Given the description of an element on the screen output the (x, y) to click on. 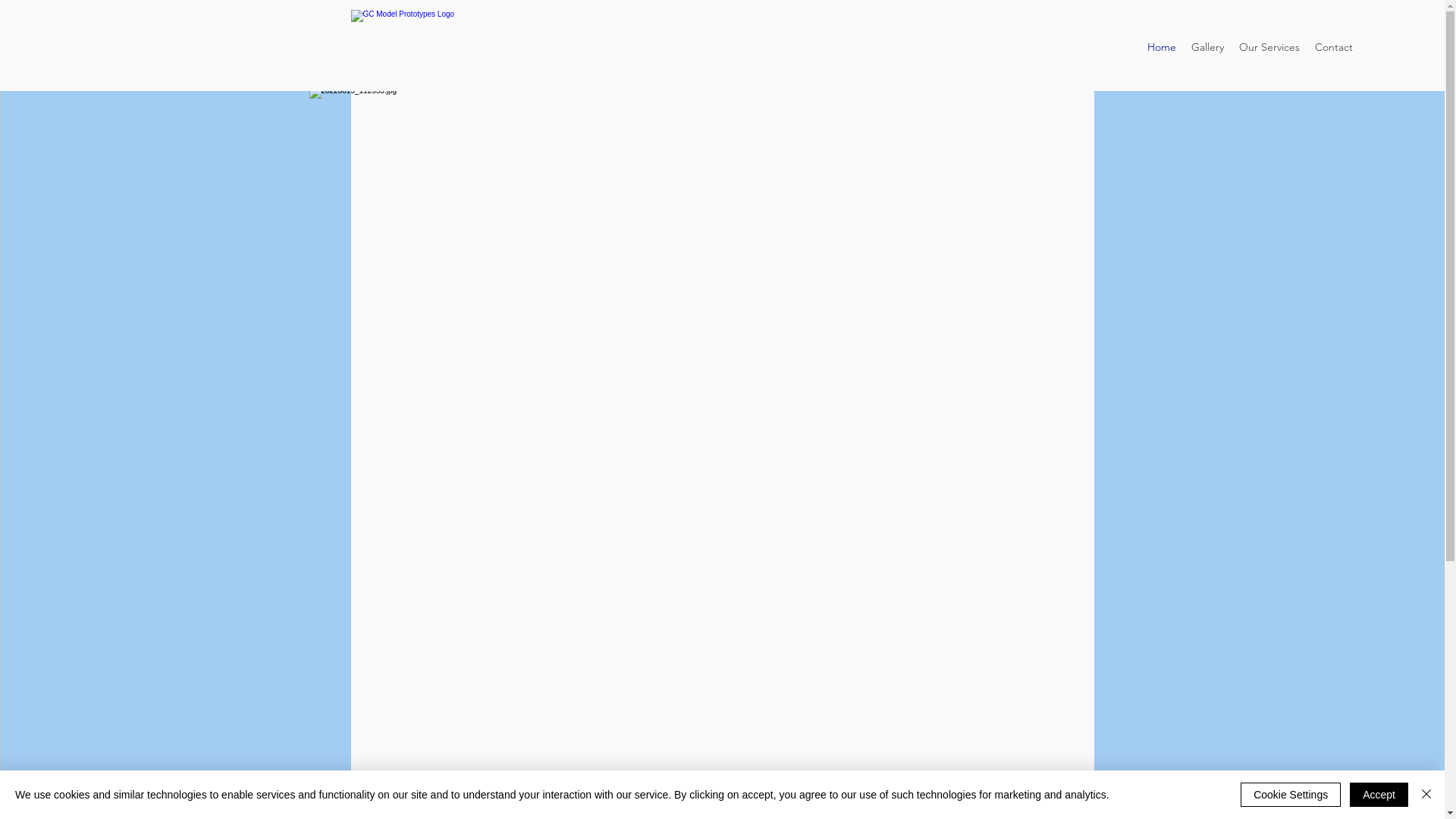
Contact Element type: text (1333, 46)
Accept Element type: text (1378, 794)
Cookie Settings Element type: text (1290, 794)
Gallery Element type: text (1207, 46)
Home Element type: text (1161, 46)
Our Services Element type: text (1269, 46)
TWIPLA (Visitor Analytics) Element type: hover (1001, 281)
